Given the description of an element on the screen output the (x, y) to click on. 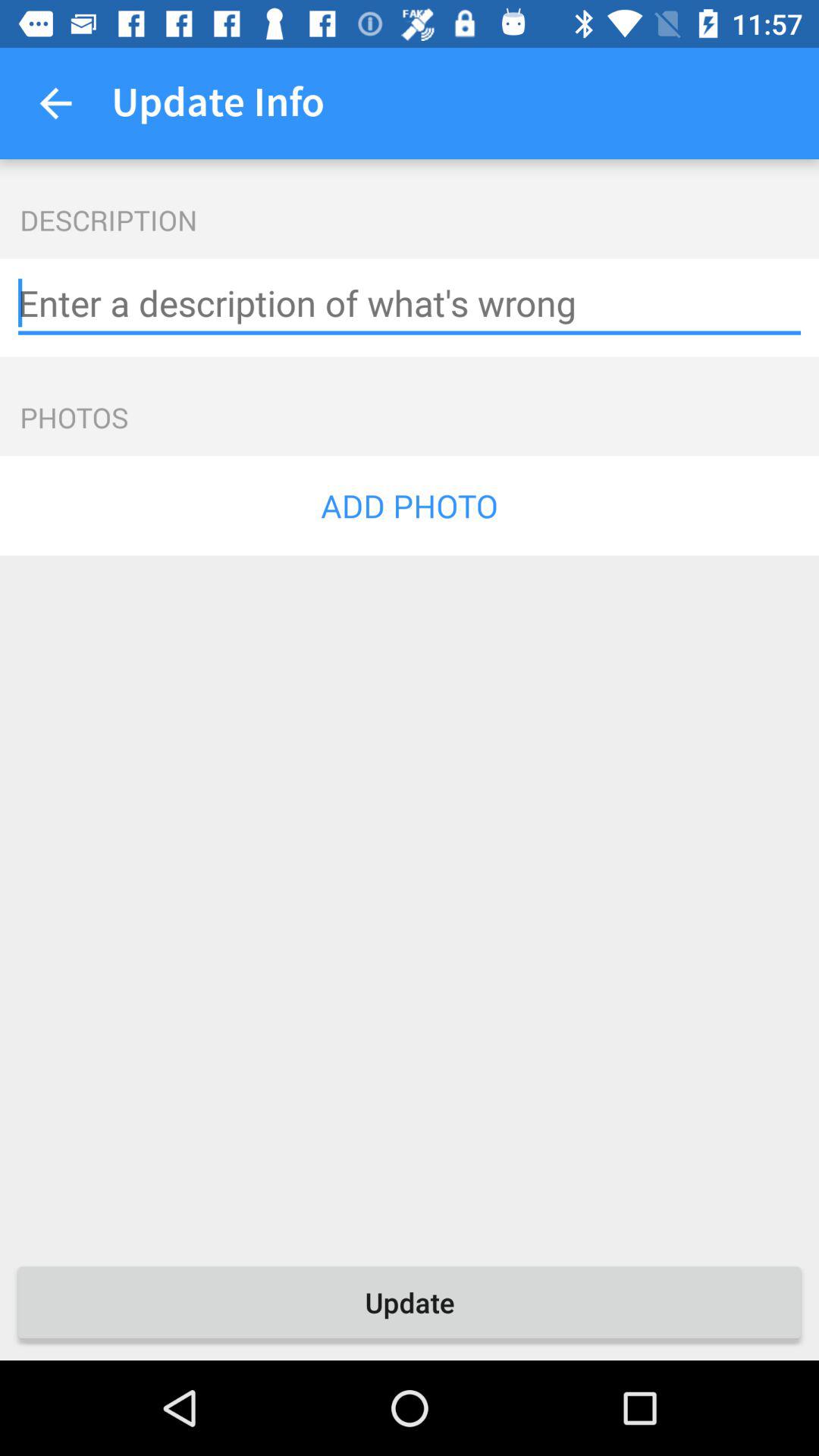
launch the add photo icon (409, 505)
